Given the description of an element on the screen output the (x, y) to click on. 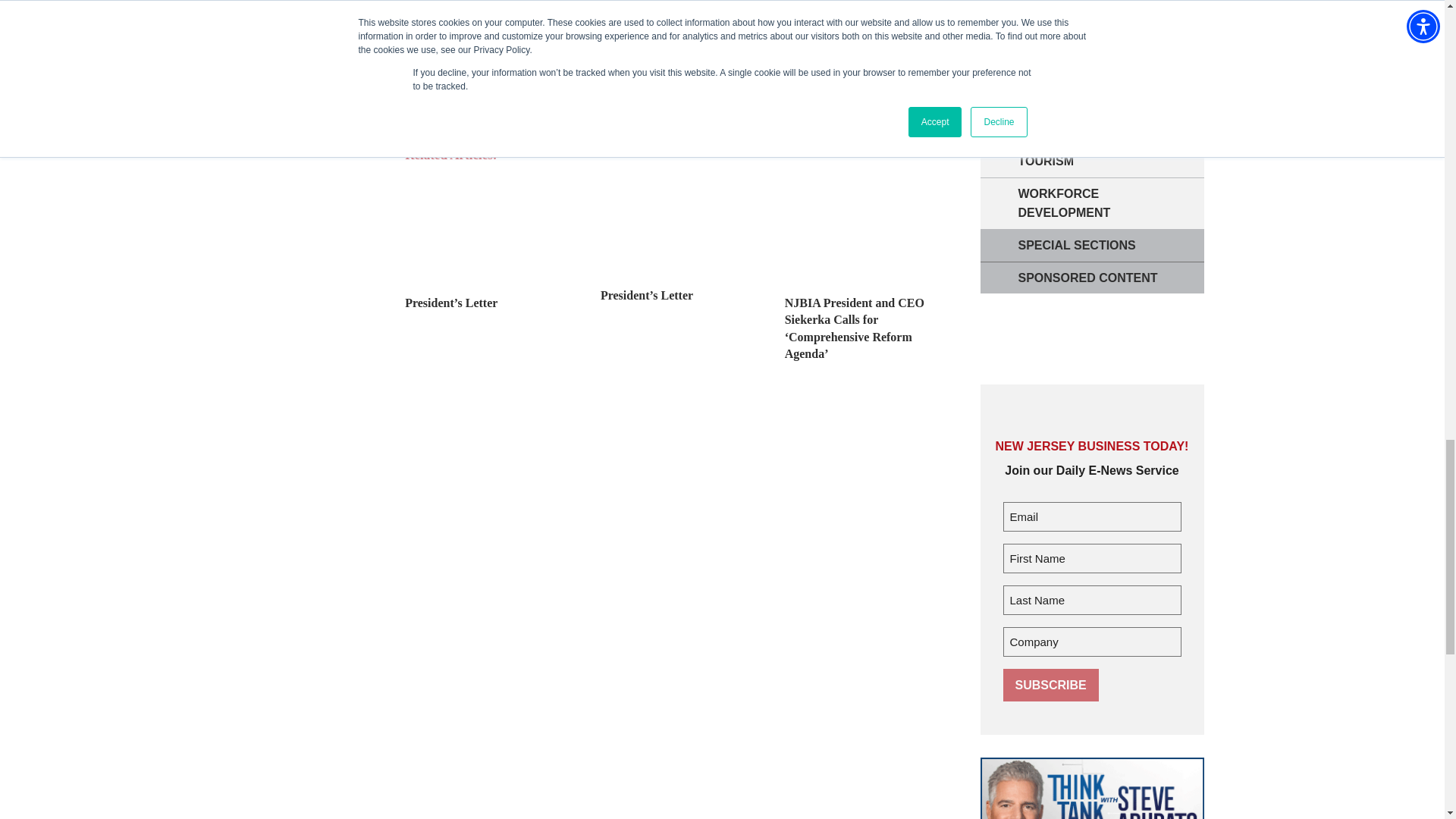
Subscribe (1050, 685)
